Given the description of an element on the screen output the (x, y) to click on. 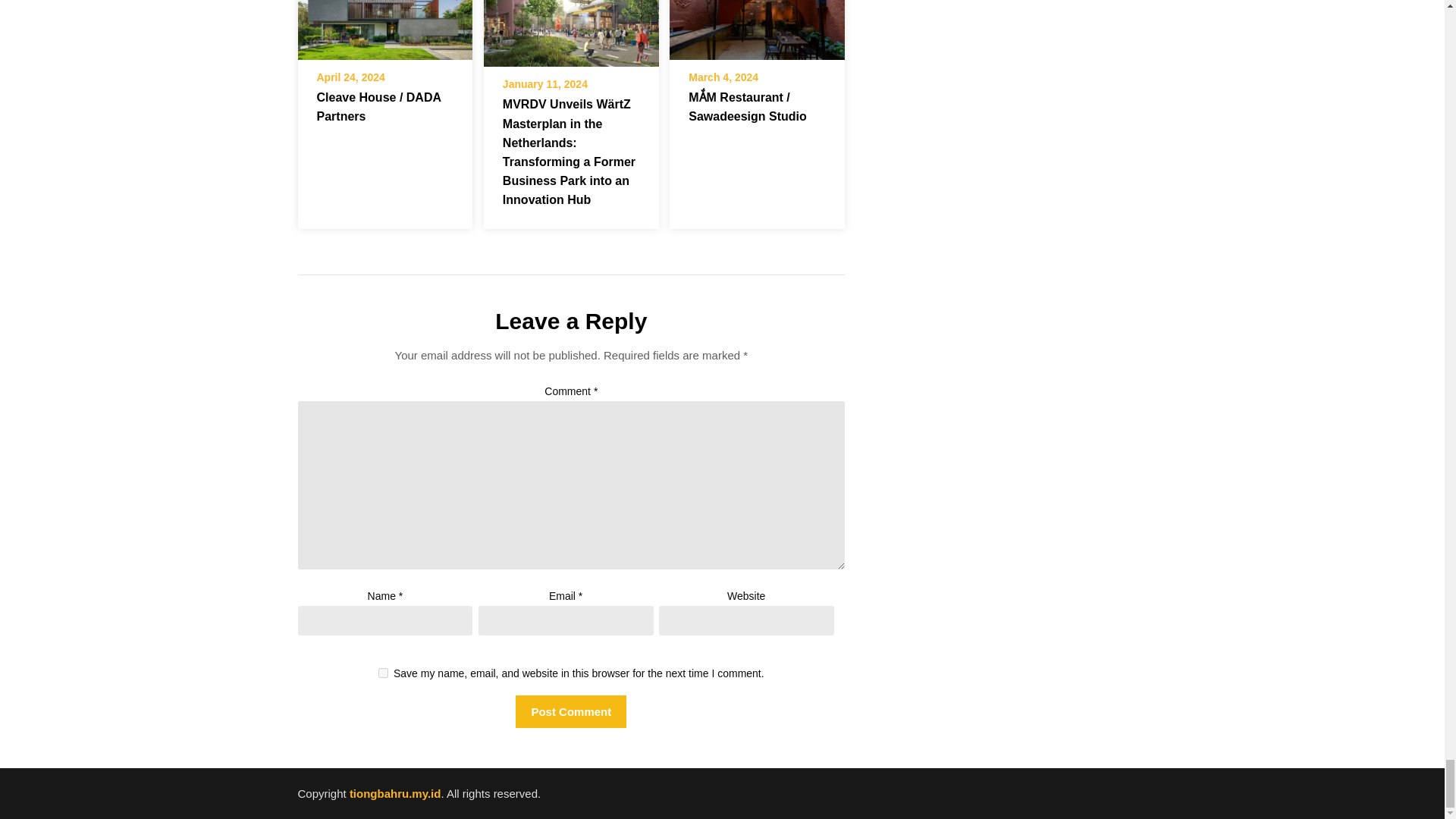
yes (383, 673)
Post Comment (570, 711)
Post Comment (570, 711)
